Given the description of an element on the screen output the (x, y) to click on. 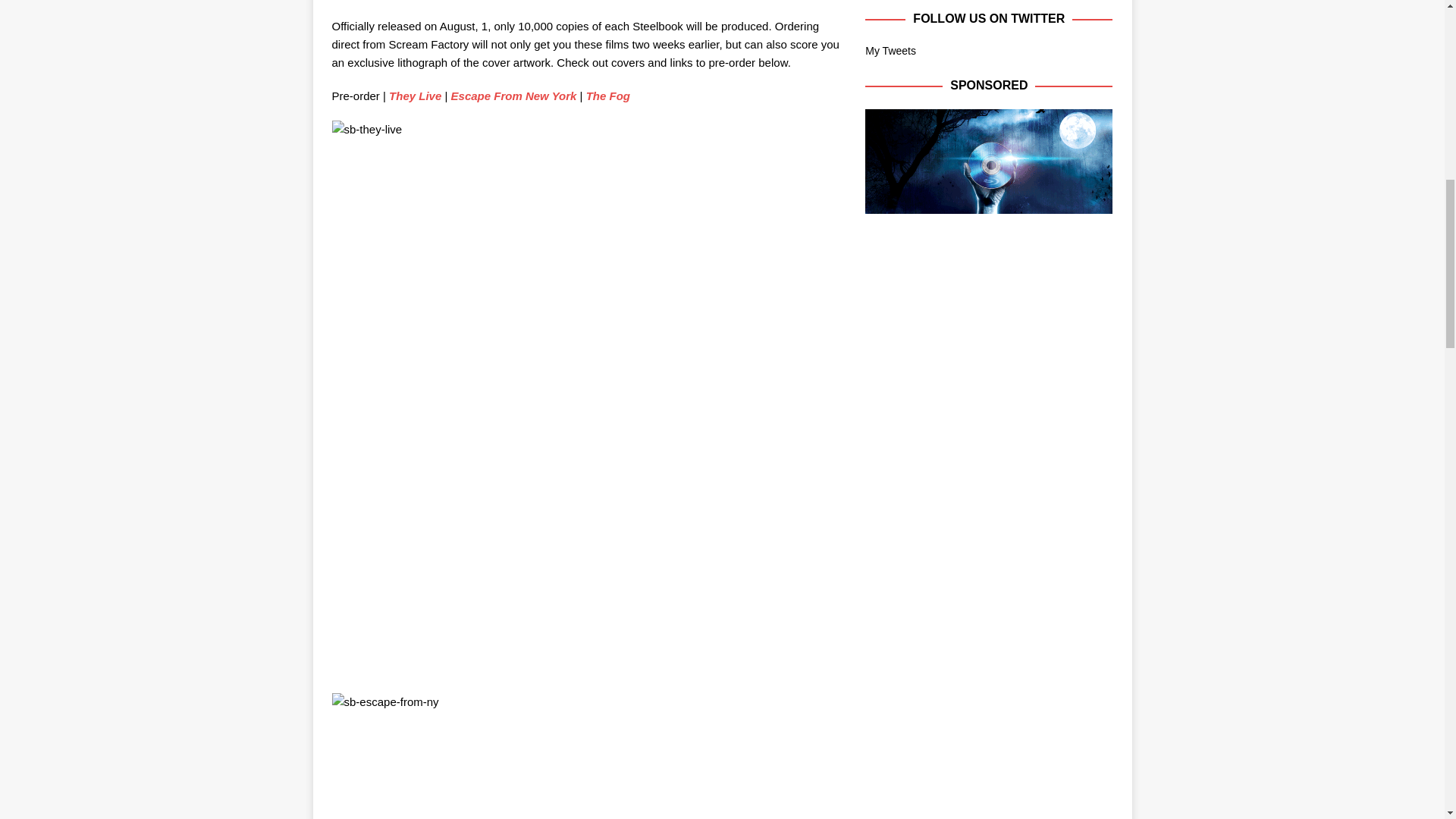
The Fog (608, 95)
Escape From New York (513, 95)
They Live (414, 95)
